Given the description of an element on the screen output the (x, y) to click on. 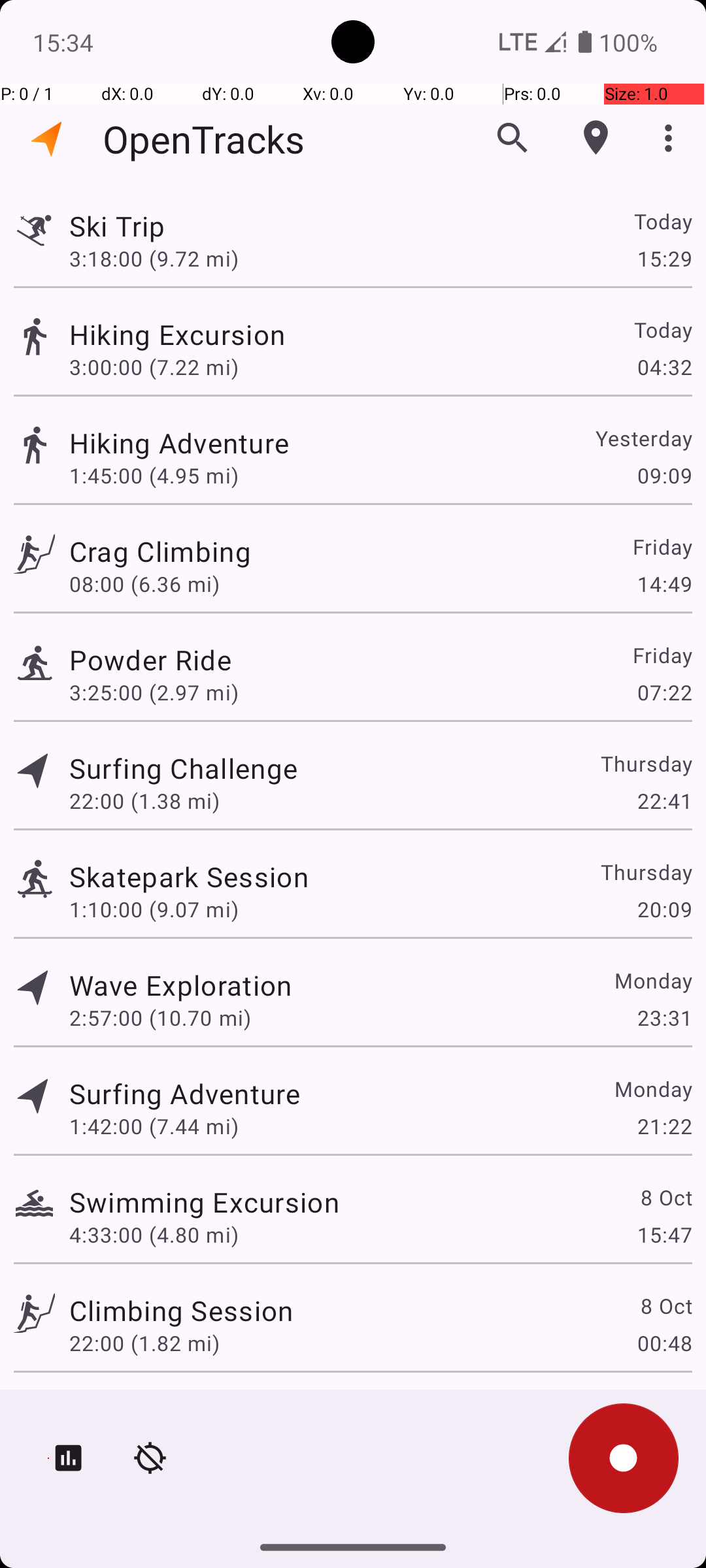
Ski Trip Element type: android.widget.TextView (180, 225)
3:18:00 (9.72 mi) Element type: android.widget.TextView (159, 258)
15:29 Element type: android.widget.TextView (664, 258)
Hiking Excursion Element type: android.widget.TextView (184, 333)
3:00:00 (7.22 mi) Element type: android.widget.TextView (153, 366)
04:32 Element type: android.widget.TextView (664, 366)
Hiking Adventure Element type: android.widget.TextView (203, 442)
1:45:00 (4.95 mi) Element type: android.widget.TextView (153, 475)
09:09 Element type: android.widget.TextView (664, 475)
Crag Climbing Element type: android.widget.TextView (180, 550)
08:00 (6.36 mi) Element type: android.widget.TextView (144, 583)
14:49 Element type: android.widget.TextView (664, 583)
Powder Ride Element type: android.widget.TextView (185, 659)
3:25:00 (2.97 mi) Element type: android.widget.TextView (153, 692)
07:22 Element type: android.widget.TextView (664, 692)
Surfing Challenge Element type: android.widget.TextView (183, 767)
22:00 (1.38 mi) Element type: android.widget.TextView (144, 800)
22:41 Element type: android.widget.TextView (664, 800)
Skatepark Session Element type: android.widget.TextView (188, 876)
1:10:00 (9.07 mi) Element type: android.widget.TextView (153, 909)
20:09 Element type: android.widget.TextView (664, 909)
Wave Exploration Element type: android.widget.TextView (180, 984)
2:57:00 (10.70 mi) Element type: android.widget.TextView (159, 1017)
23:31 Element type: android.widget.TextView (664, 1017)
Surfing Adventure Element type: android.widget.TextView (184, 1092)
1:42:00 (7.44 mi) Element type: android.widget.TextView (153, 1125)
21:22 Element type: android.widget.TextView (664, 1125)
Swimming Excursion Element type: android.widget.TextView (203, 1201)
4:33:00 (4.80 mi) Element type: android.widget.TextView (153, 1234)
15:47 Element type: android.widget.TextView (664, 1234)
Climbing Session Element type: android.widget.TextView (180, 1309)
22:00 (1.82 mi) Element type: android.widget.TextView (144, 1342)
00:48 Element type: android.widget.TextView (664, 1342)
Rowing Adventure Element type: android.widget.TextView (185, 1408)
